Given the description of an element on the screen output the (x, y) to click on. 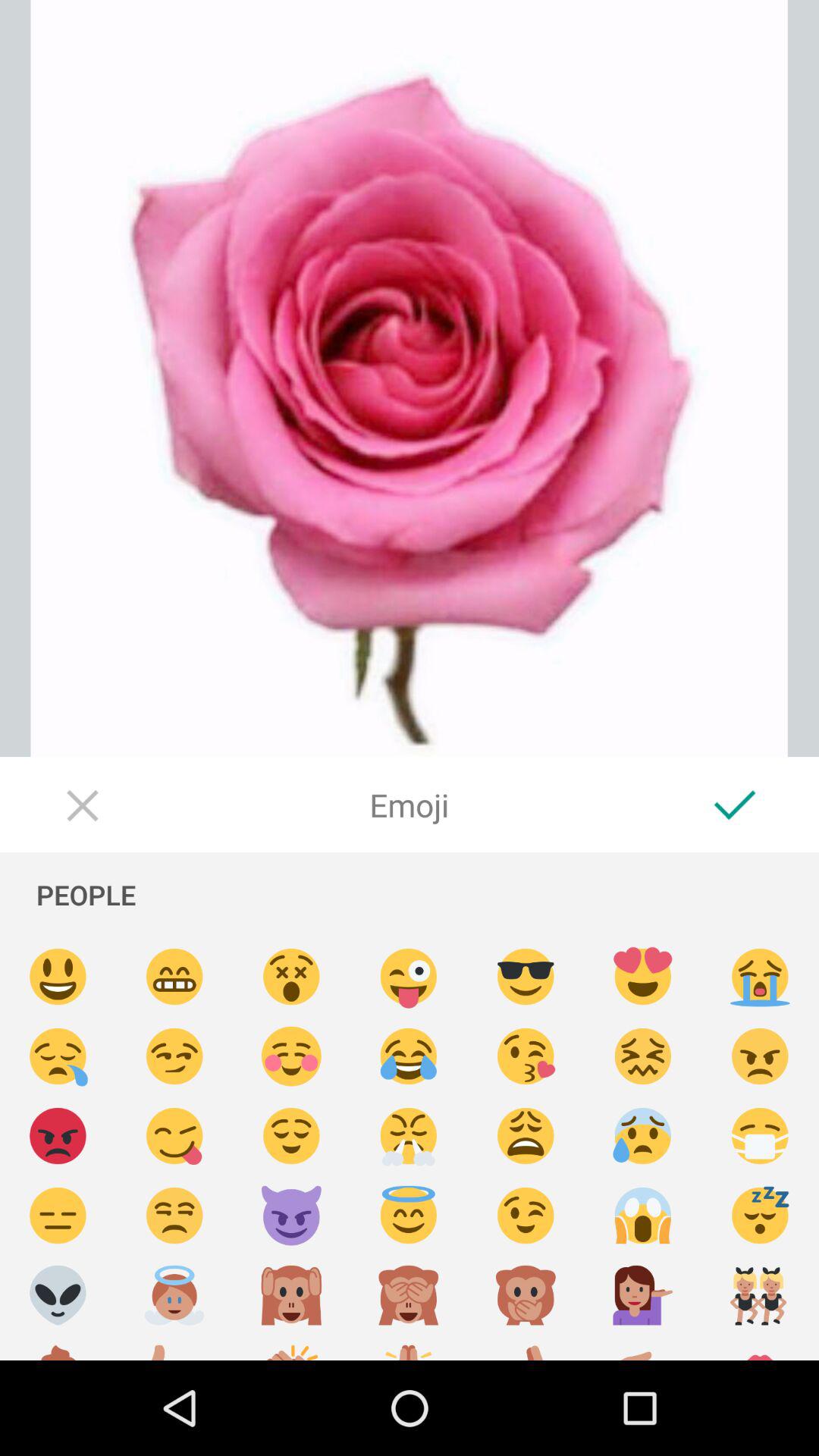
select emoji (408, 1056)
